Given the description of an element on the screen output the (x, y) to click on. 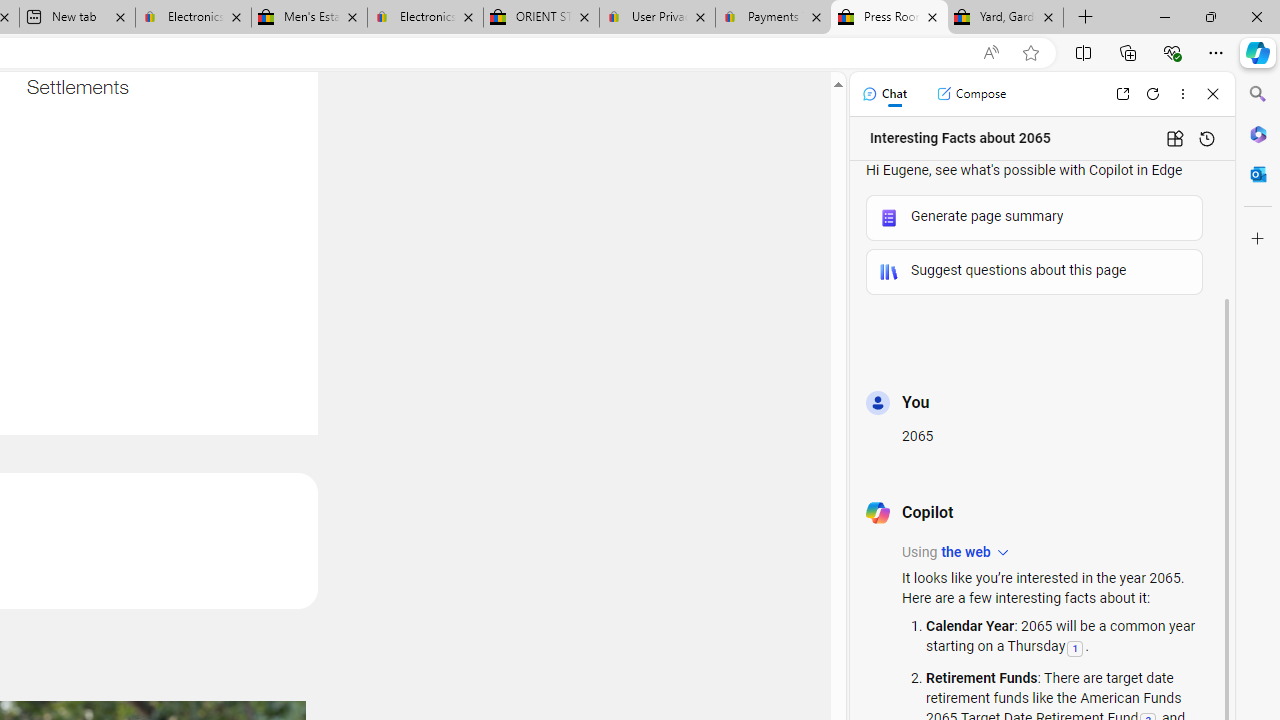
Compose (971, 93)
